Given the description of an element on the screen output the (x, y) to click on. 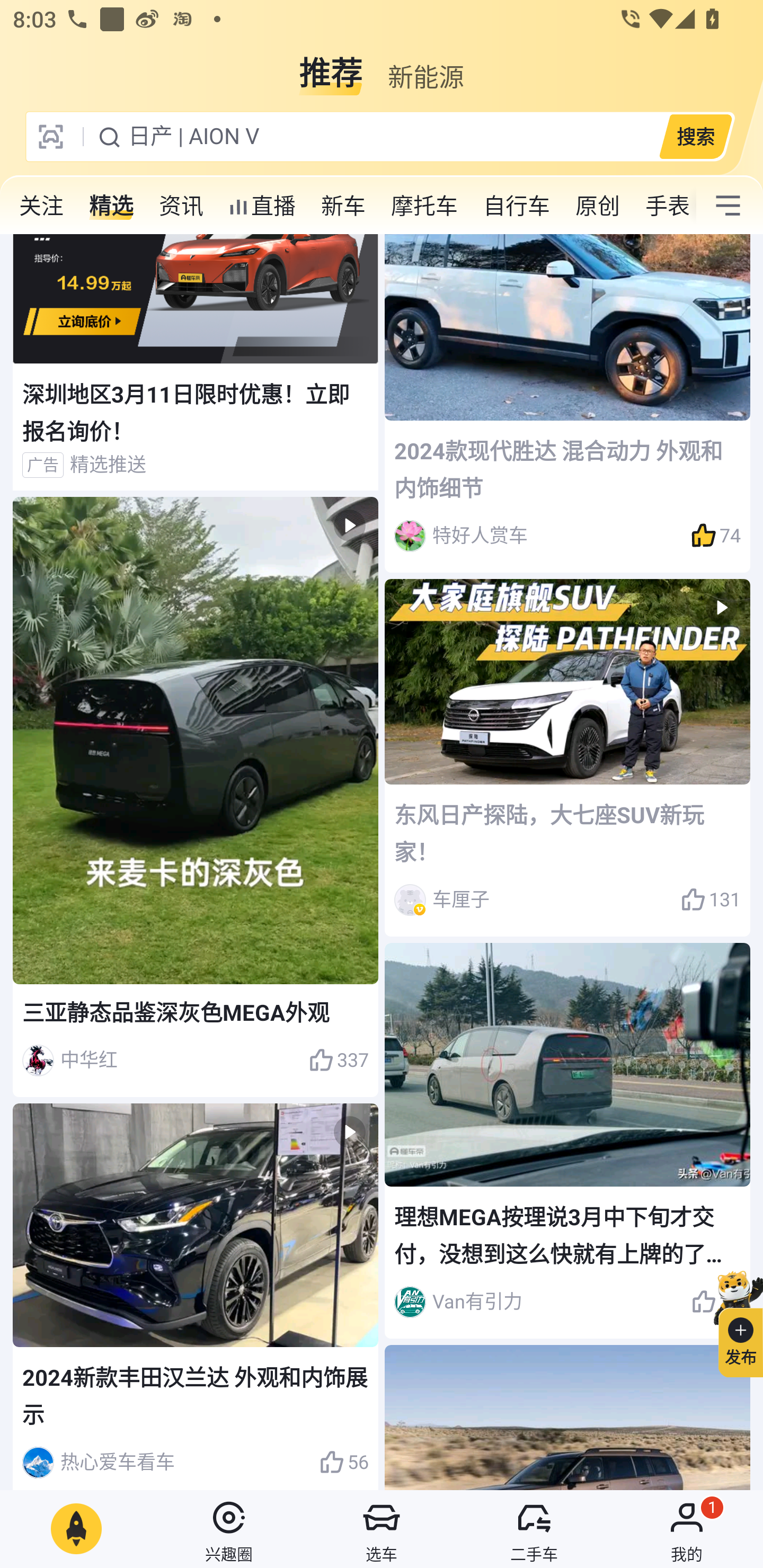
推荐 (330, 65)
新能源 (425, 65)
搜索 (695, 136)
关注 (41, 205)
精选 (111, 205)
资讯 (180, 205)
直播 (261, 205)
新车 (343, 205)
摩托车 (424, 205)
自行车 (516, 205)
原创 (597, 205)
手表 (663, 205)
 (727, 205)
深圳地区3月11日限时优惠！立即报名询价！ 广告 精选推送 (195, 361)
2024款现代胜达 混合动力 外观和内饰细节 特好人赏车 74 (567, 402)
 三亚静态品鉴深灰色MEGA外观 中华红 337 (195, 797)
74 (715, 535)
 东风日产探陆，大七座SUV新玩家！ 车厘子 131 (567, 757)
131 (710, 899)
337 (338, 1060)
 2024新款丰田汉兰达 外观和内饰展示 热心爱车看车 56 (195, 1296)
发布 (732, 1321)
22 (715, 1301)
56 (343, 1462)
 兴趣圈 (228, 1528)
 选车 (381, 1528)
 二手车 (533, 1528)
 我的 (686, 1528)
